Given the description of an element on the screen output the (x, y) to click on. 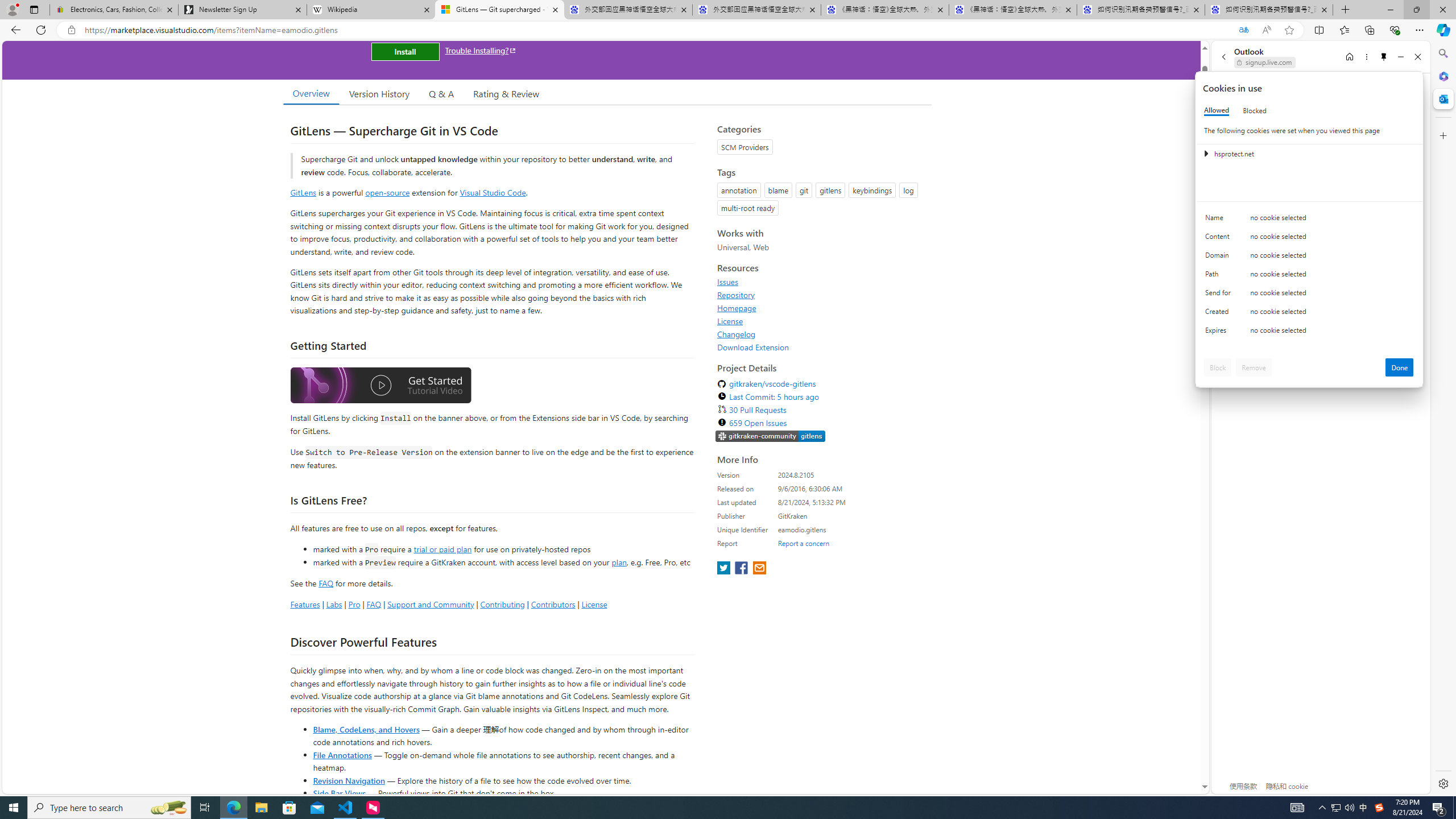
Blocked (1255, 110)
Expires (1219, 332)
Domain (1219, 257)
Allowed (1216, 110)
Class: c0153 c0157 (1309, 332)
Block (1217, 367)
Class: c0153 c0157 c0154 (1309, 220)
Name (1219, 220)
Created (1219, 313)
Path (1219, 276)
no cookie selected (1331, 332)
Content (1219, 239)
Remove (1253, 367)
Send for (1219, 295)
Done (1399, 367)
